Given the description of an element on the screen output the (x, y) to click on. 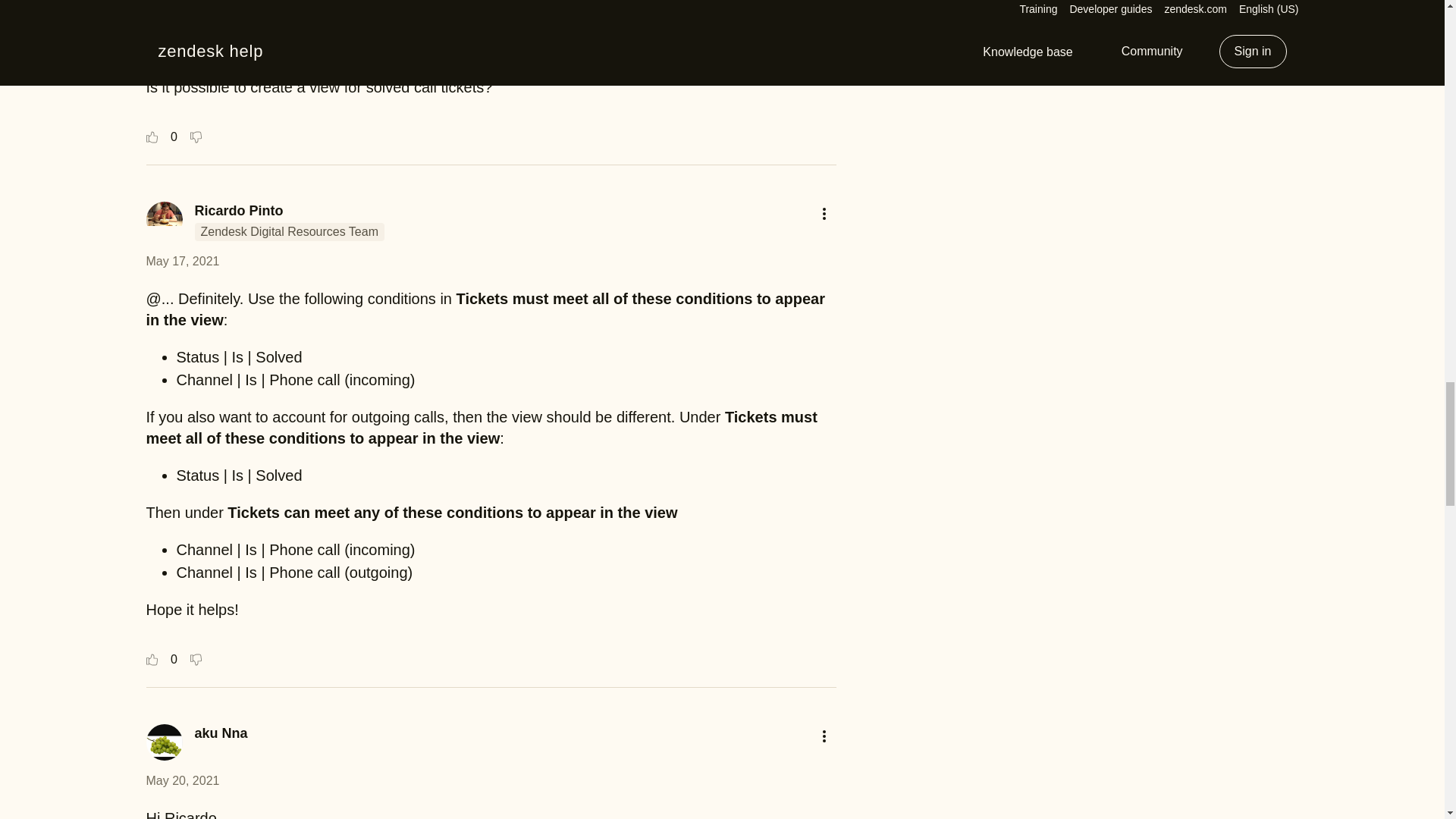
May 20, 2021 (182, 780)
May 14, 2021 (182, 15)
May 17, 2021 (182, 260)
